Given the description of an element on the screen output the (x, y) to click on. 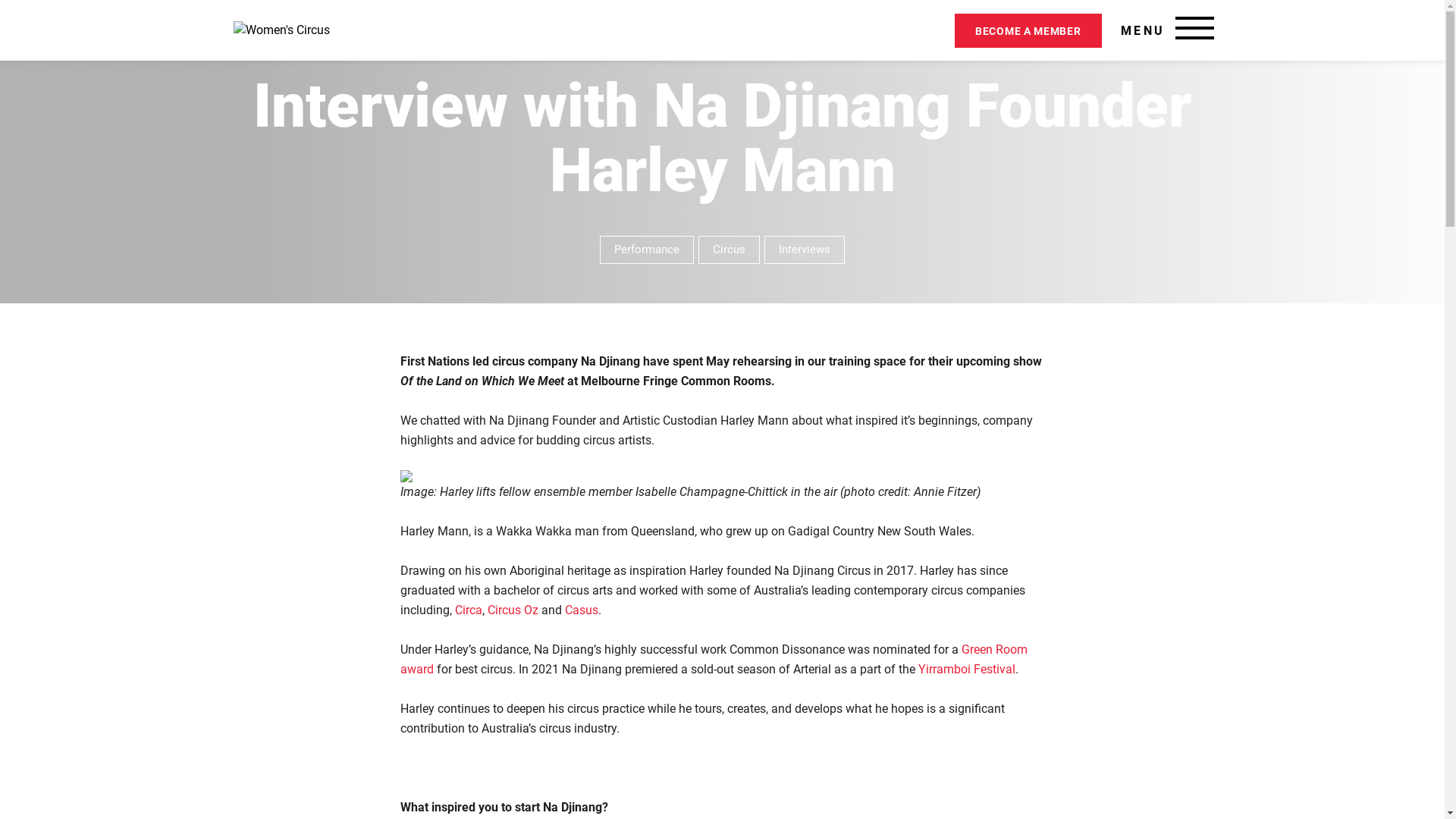
Circa Element type: text (468, 609)
Circus Oz Element type: text (511, 609)
BECOME A MEMBER Element type: text (1027, 30)
Yirramboi Festival Element type: text (965, 669)
Green Room award Element type: text (713, 659)
Casus Element type: text (580, 609)
